Given the description of an element on the screen output the (x, y) to click on. 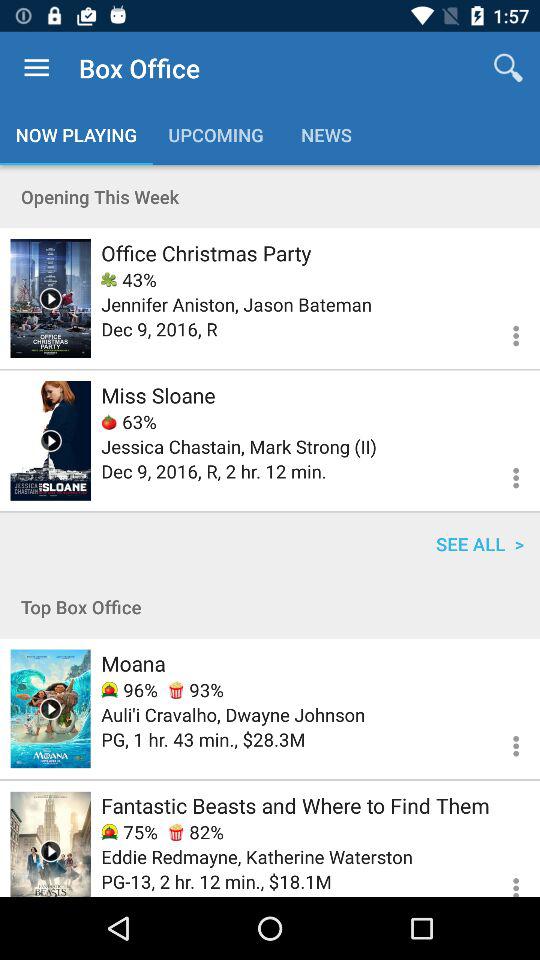
select item above now playing (36, 68)
